Given the description of an element on the screen output the (x, y) to click on. 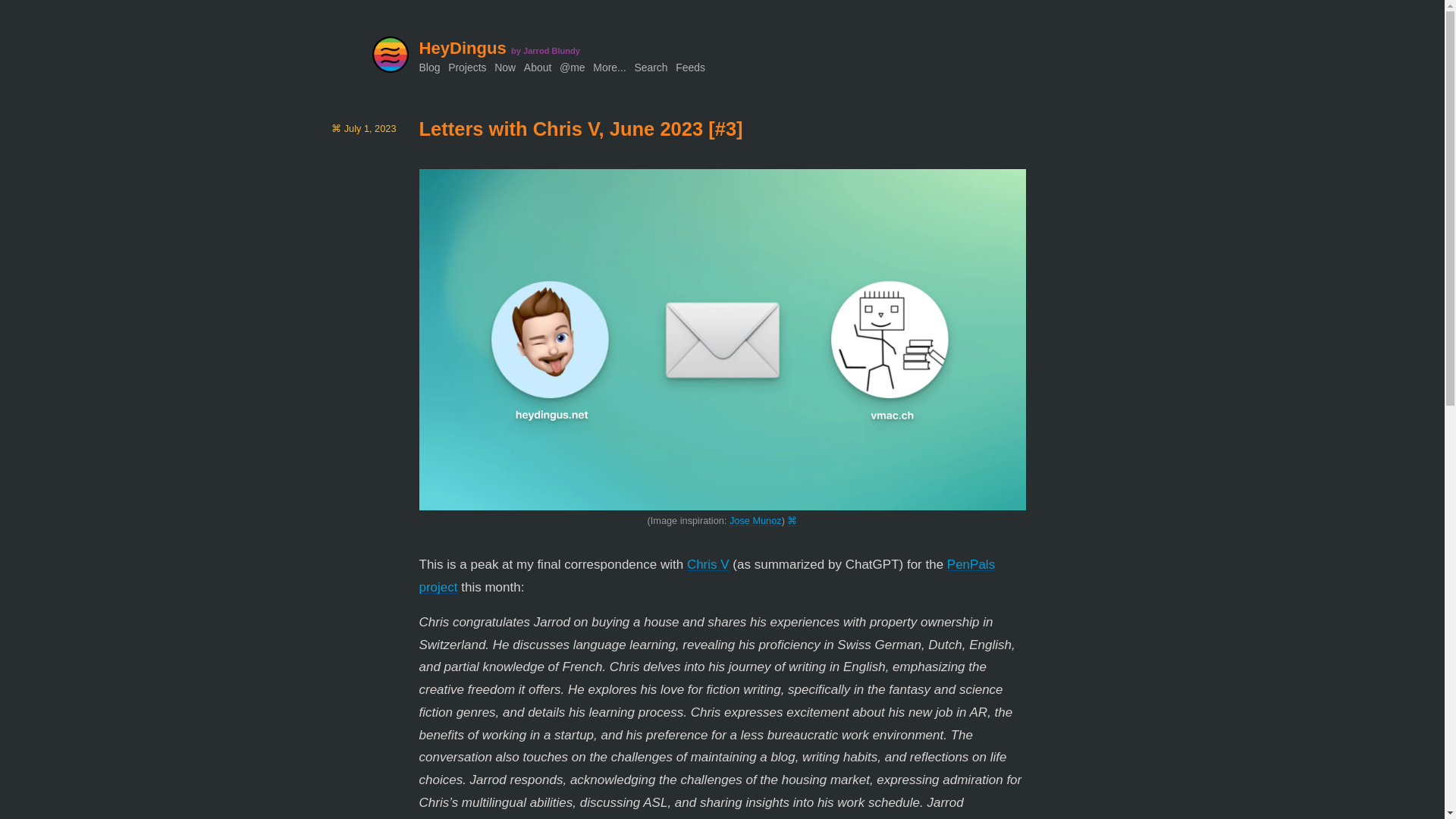
Search (649, 67)
About (537, 67)
More... (609, 67)
Chris V (708, 564)
Projects (467, 67)
Search (649, 67)
Blog (429, 67)
Now (505, 67)
Jose Munoz (755, 520)
Projects (467, 67)
Now (505, 67)
Feeds (689, 67)
Blog (429, 67)
About (537, 67)
More... (609, 67)
